Given the description of an element on the screen output the (x, y) to click on. 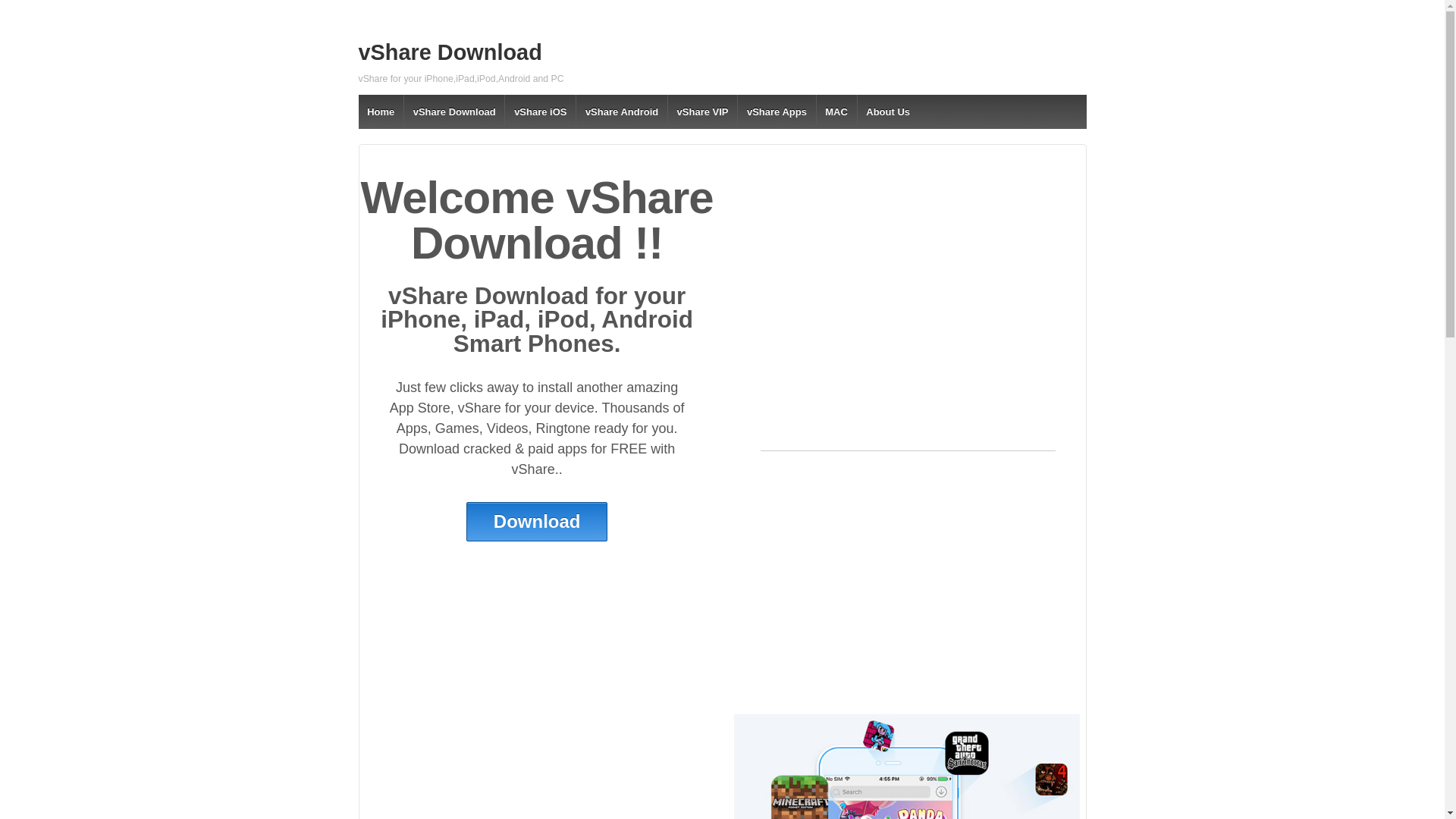
MAC (836, 111)
MAC (836, 111)
vShare Android (620, 111)
vShare Download (449, 52)
Advertisement (877, 578)
About Us (887, 111)
vShare Download (453, 111)
vShare VIP (701, 111)
Home (380, 111)
vShare iOS (539, 111)
vShare Apps (775, 111)
Download (536, 521)
vShare Apps (775, 111)
vShare VIP (701, 111)
About Us (887, 111)
